Given the description of an element on the screen output the (x, y) to click on. 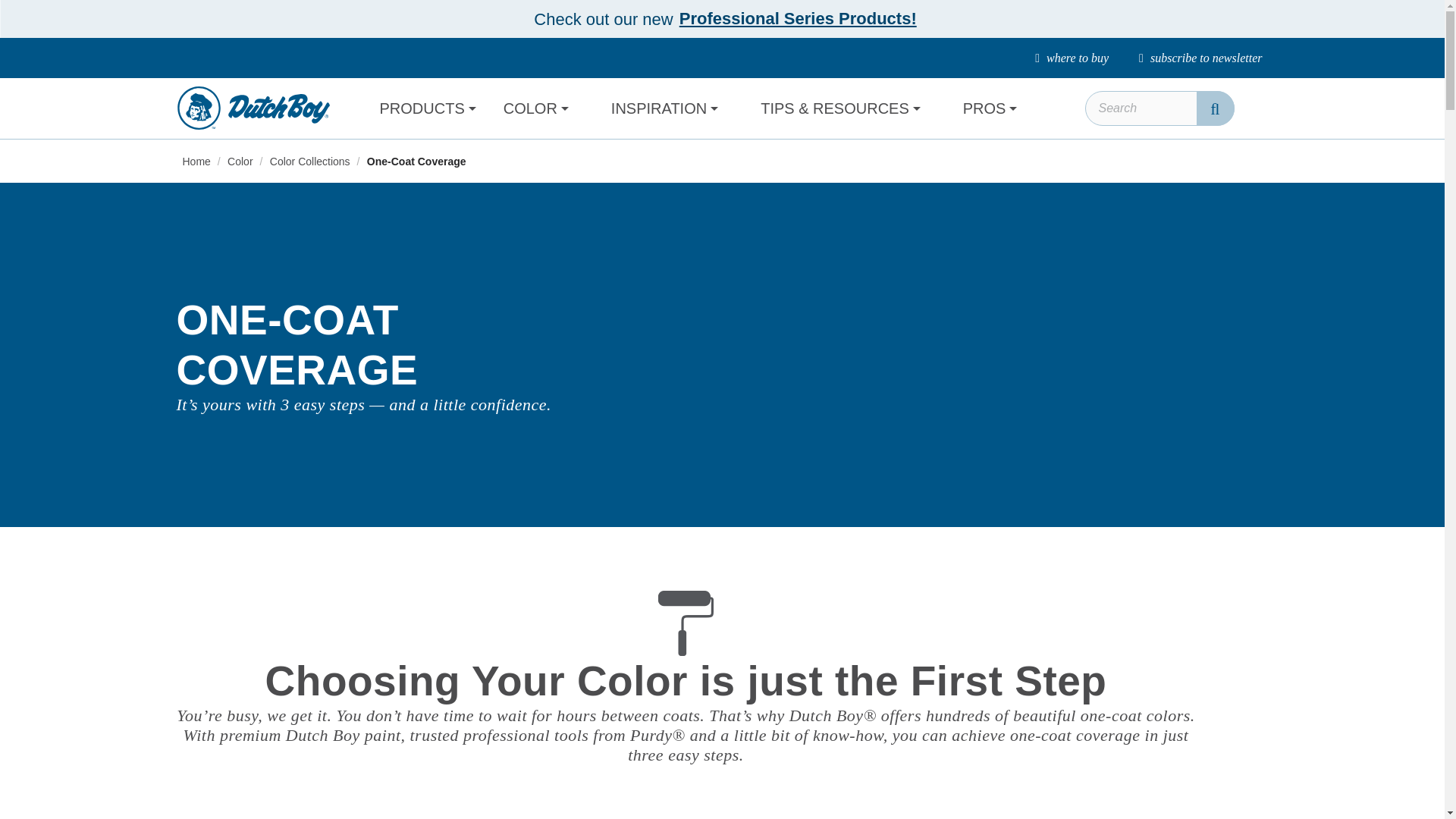
subscribe to newsletter (1200, 57)
where to buy (1071, 57)
Home (197, 161)
Professional Series Products! (798, 18)
Color (241, 161)
Color Collections (311, 161)
